Given the description of an element on the screen output the (x, y) to click on. 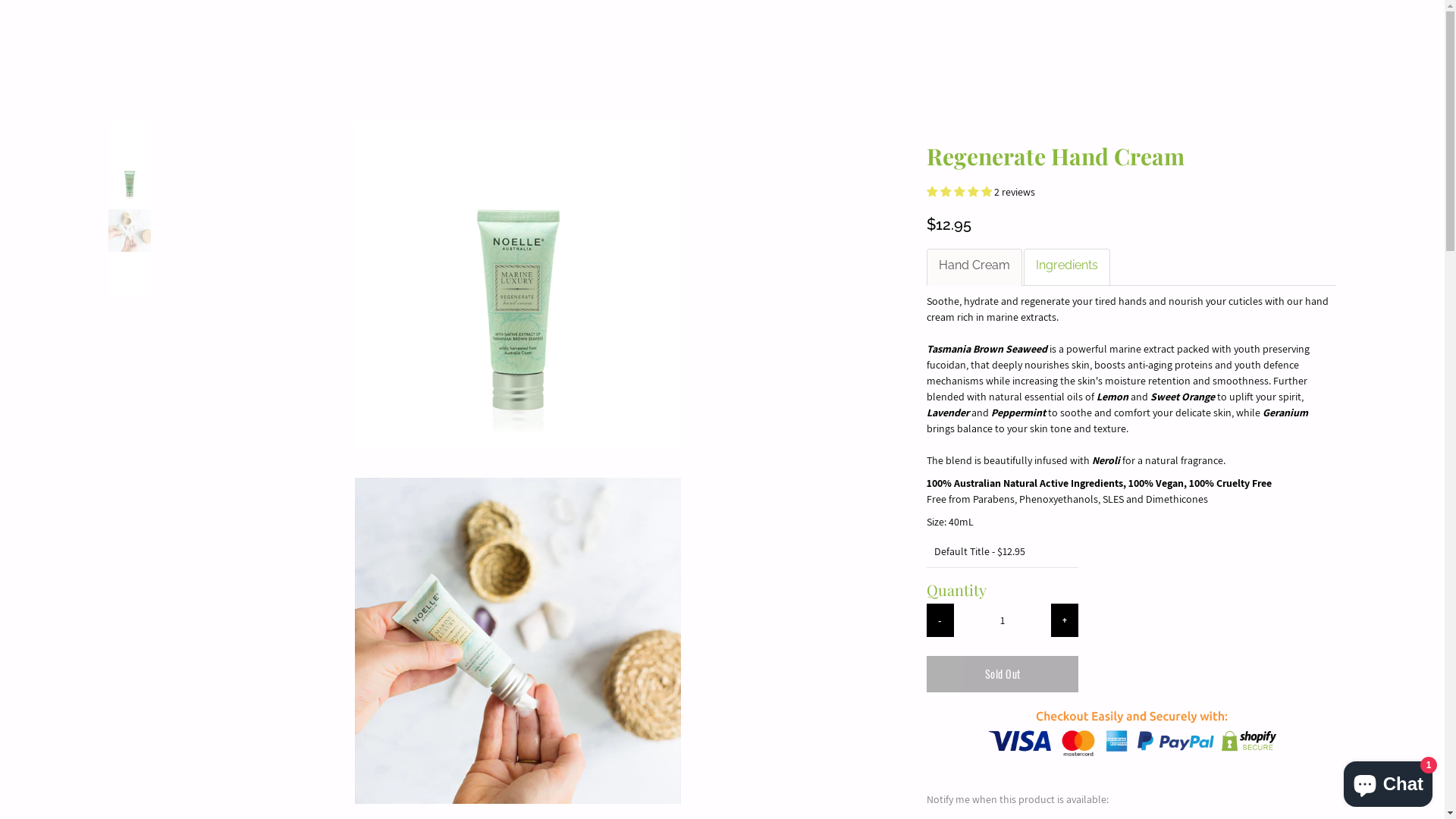
- Element type: text (939, 620)
Shopify online store chat Element type: hover (1388, 780)
Sold Out Element type: text (1002, 673)
+ Element type: text (1065, 620)
